Given the description of an element on the screen output the (x, y) to click on. 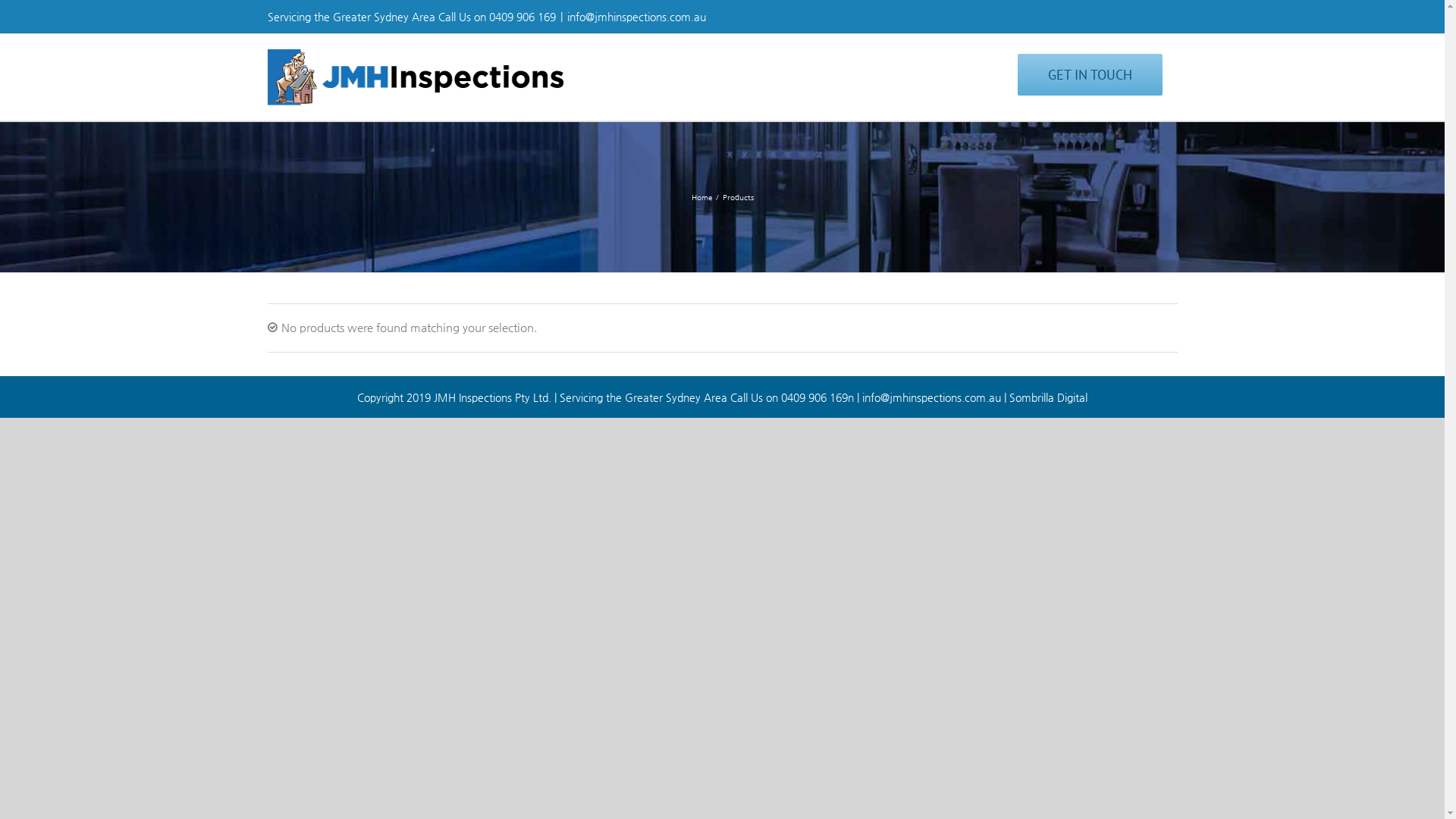
info@jmhinspections.com.au Element type: text (636, 16)
Home Element type: text (701, 196)
Sombrilla Digital Element type: text (1048, 397)
GET IN TOUCH Element type: text (1089, 73)
